Given the description of an element on the screen output the (x, y) to click on. 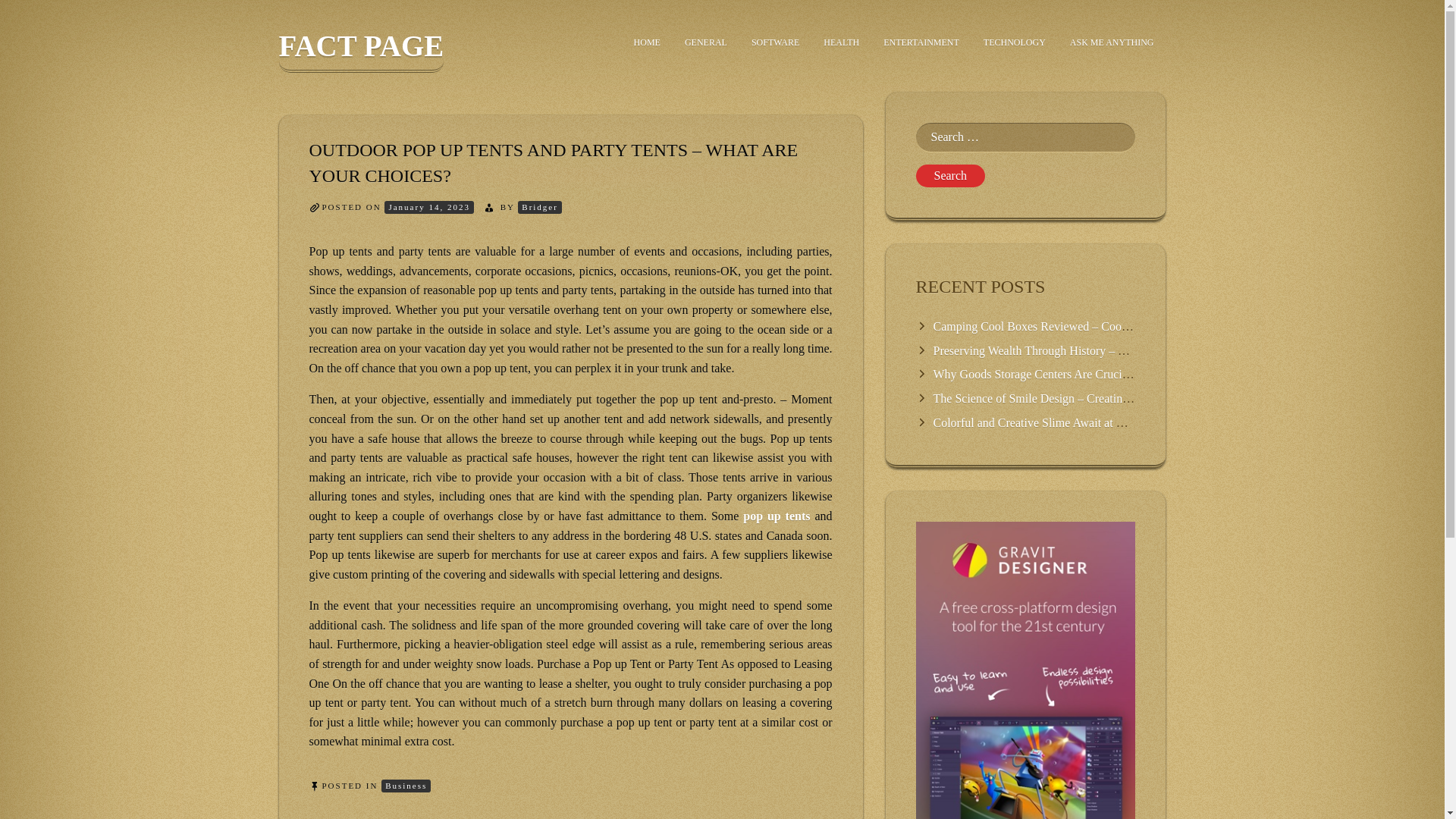
Search (950, 175)
HOME (646, 42)
pop up tents (775, 515)
Search (950, 175)
ASK ME ANYTHING (1112, 42)
SOFTWARE (774, 42)
ENTERTAINMENT (920, 42)
Business (405, 785)
GENERAL (705, 42)
FACT PAGE (361, 50)
TECHNOLOGY (1014, 42)
Search (950, 175)
HEALTH (840, 42)
January 14, 2023 (428, 206)
